Given the description of an element on the screen output the (x, y) to click on. 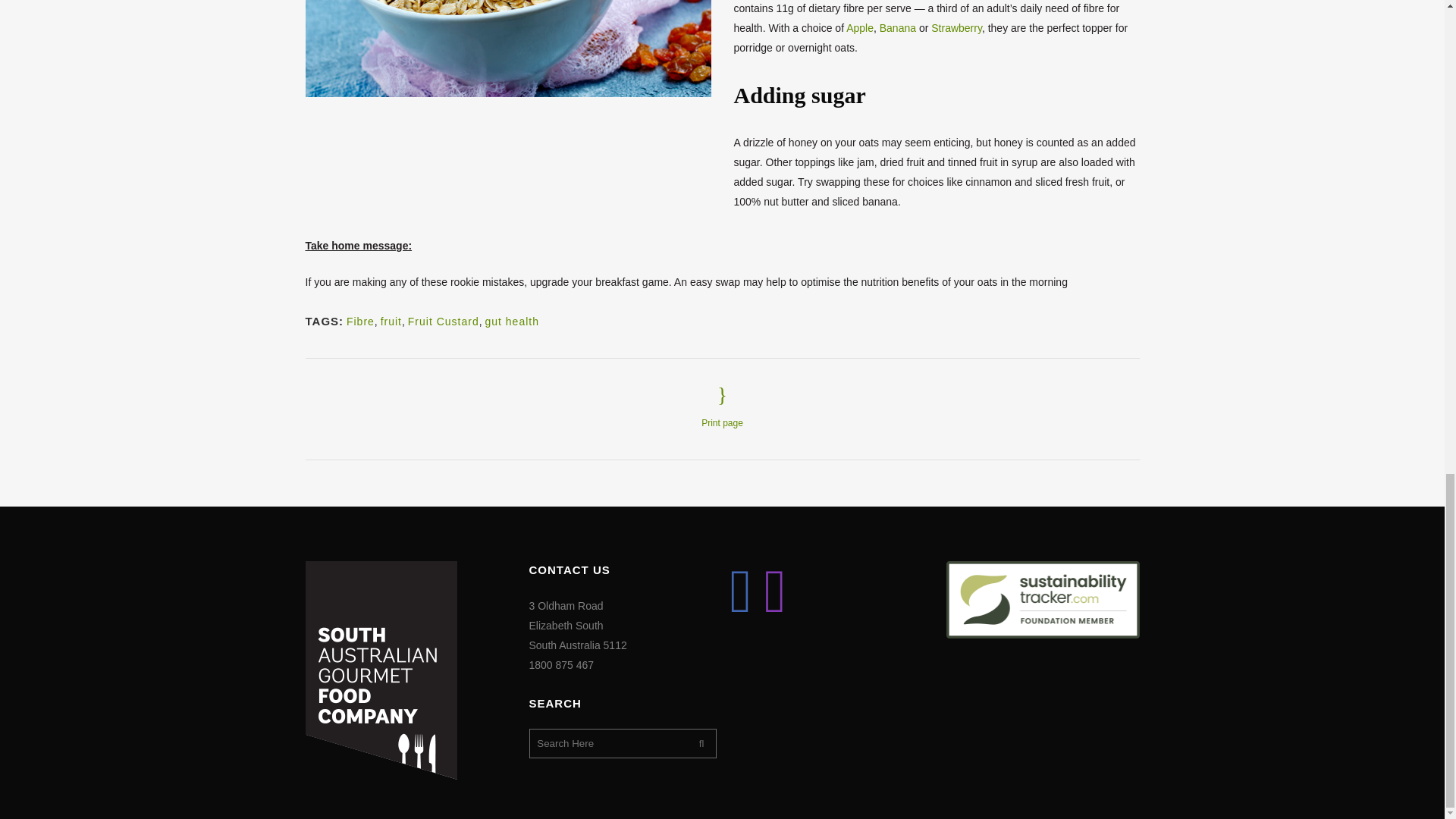
Fibre (360, 321)
Fruit Custard (443, 321)
fruit (390, 321)
gut health (511, 321)
Apple (859, 28)
Banana (897, 28)
Strawberry (956, 28)
